Given the description of an element on the screen output the (x, y) to click on. 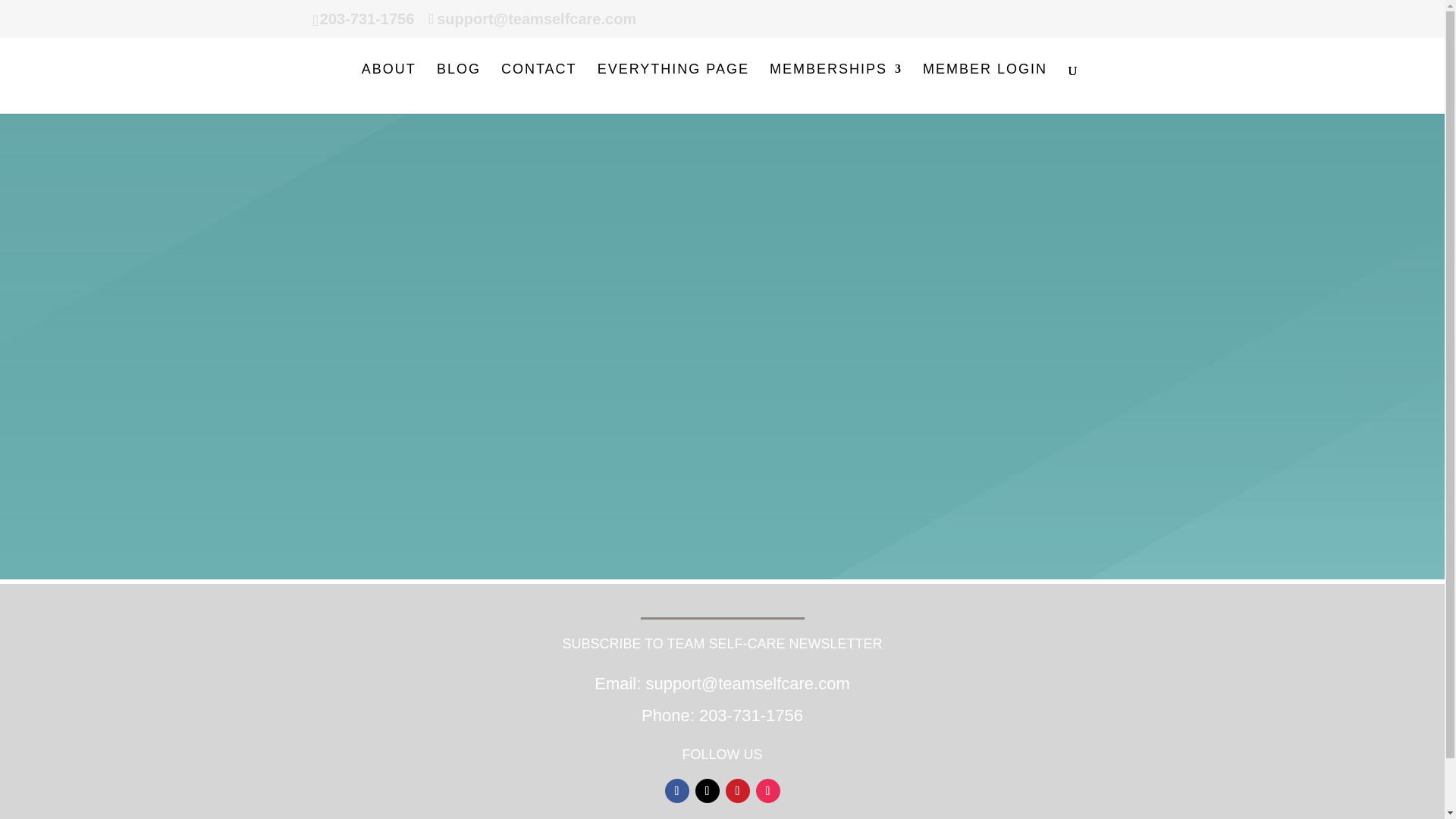
MEMBER LOGIN (984, 88)
Follow on Pinterest (737, 790)
Follow on Instagram (766, 790)
CONTACT (538, 88)
Follow on Twitter (706, 790)
EVERYTHING PAGE (672, 88)
Follow on Facebook (675, 790)
ABOUT (388, 88)
MEMBERSHIPS (836, 88)
